Given the description of an element on the screen output the (x, y) to click on. 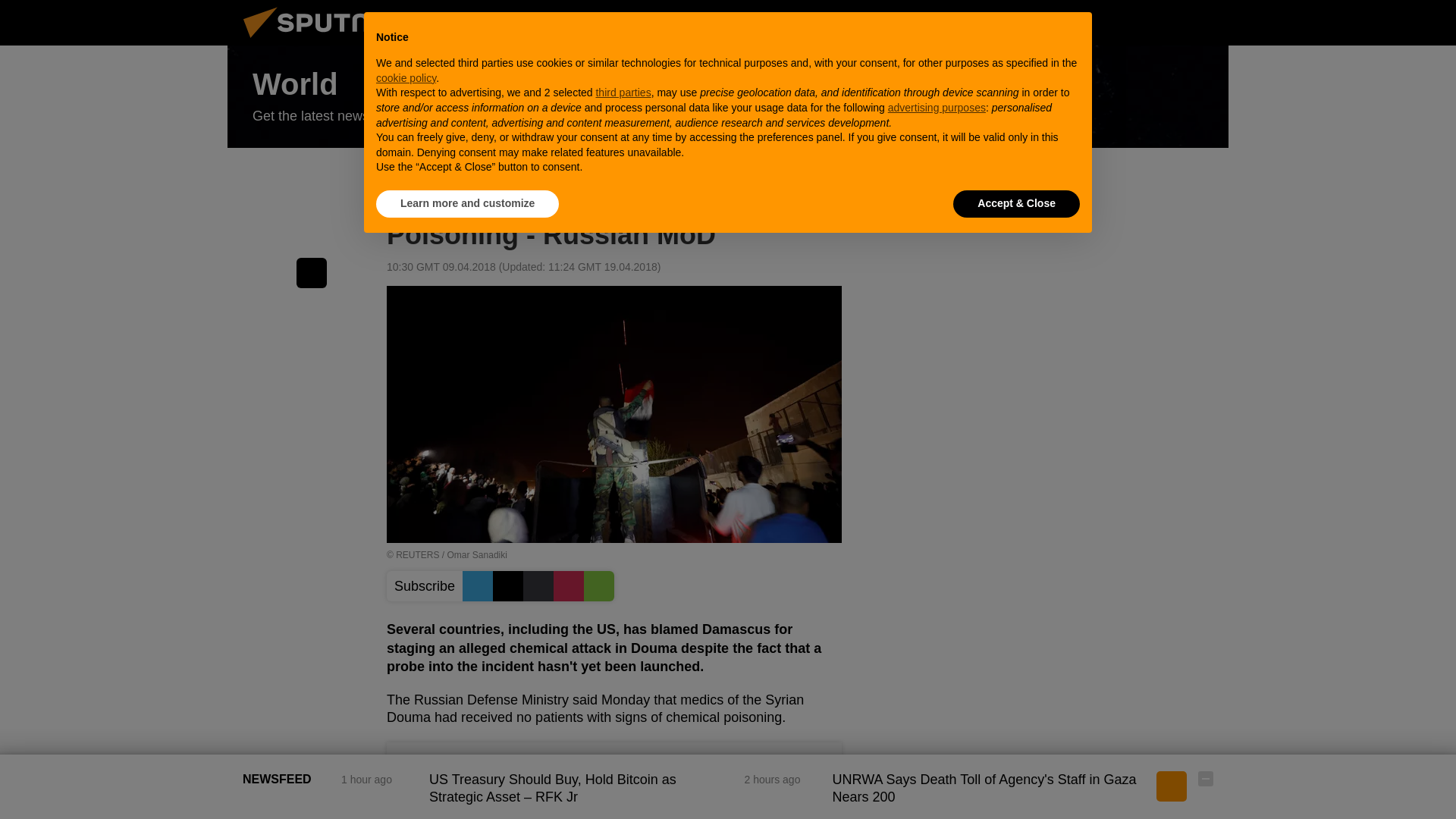
World (727, 96)
Chats (1206, 22)
Authorization (1129, 22)
Sputnik International (325, 41)
